Given the description of an element on the screen output the (x, y) to click on. 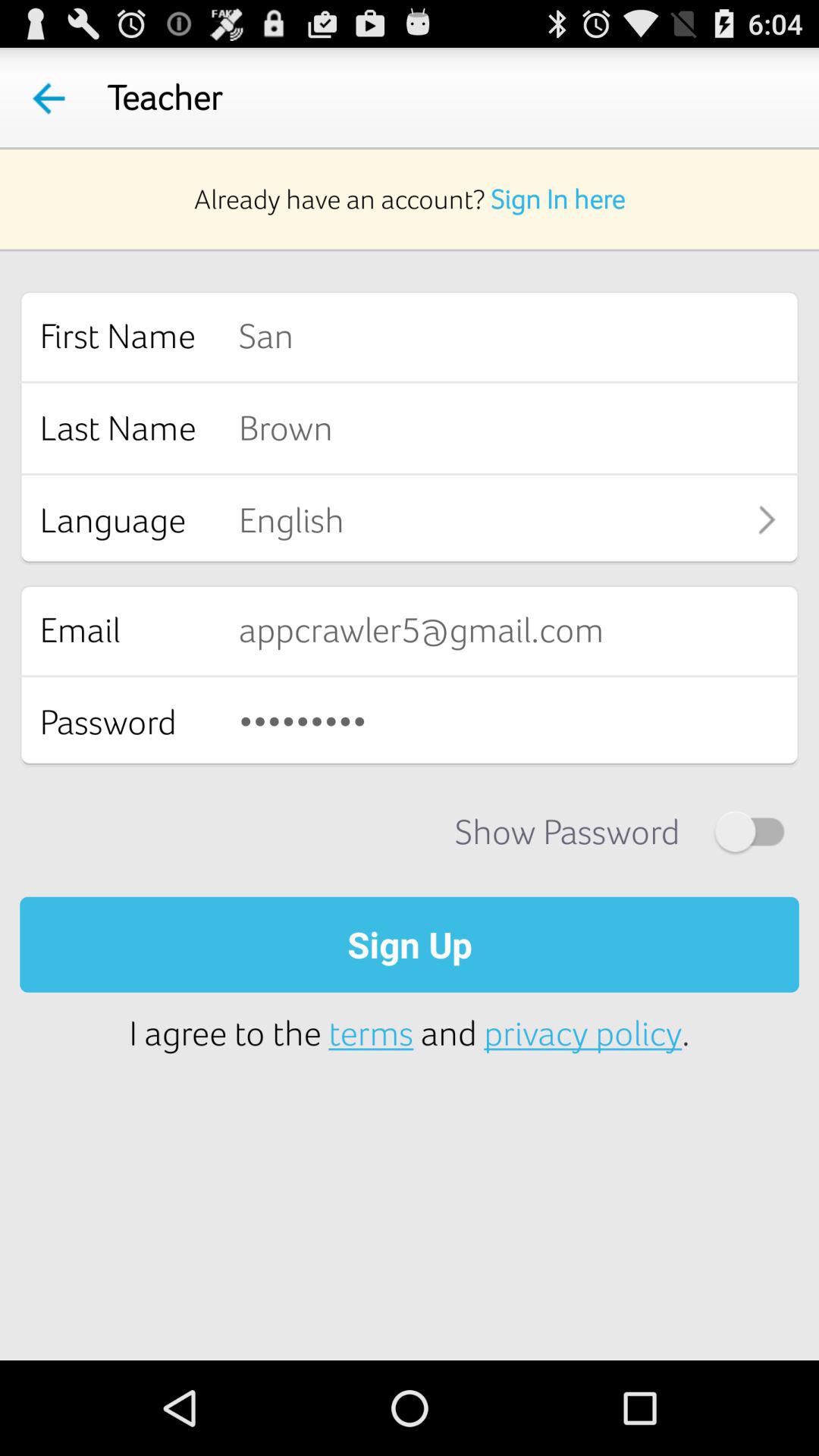
click on the text box beside the text email (519, 630)
